Given the description of an element on the screen output the (x, y) to click on. 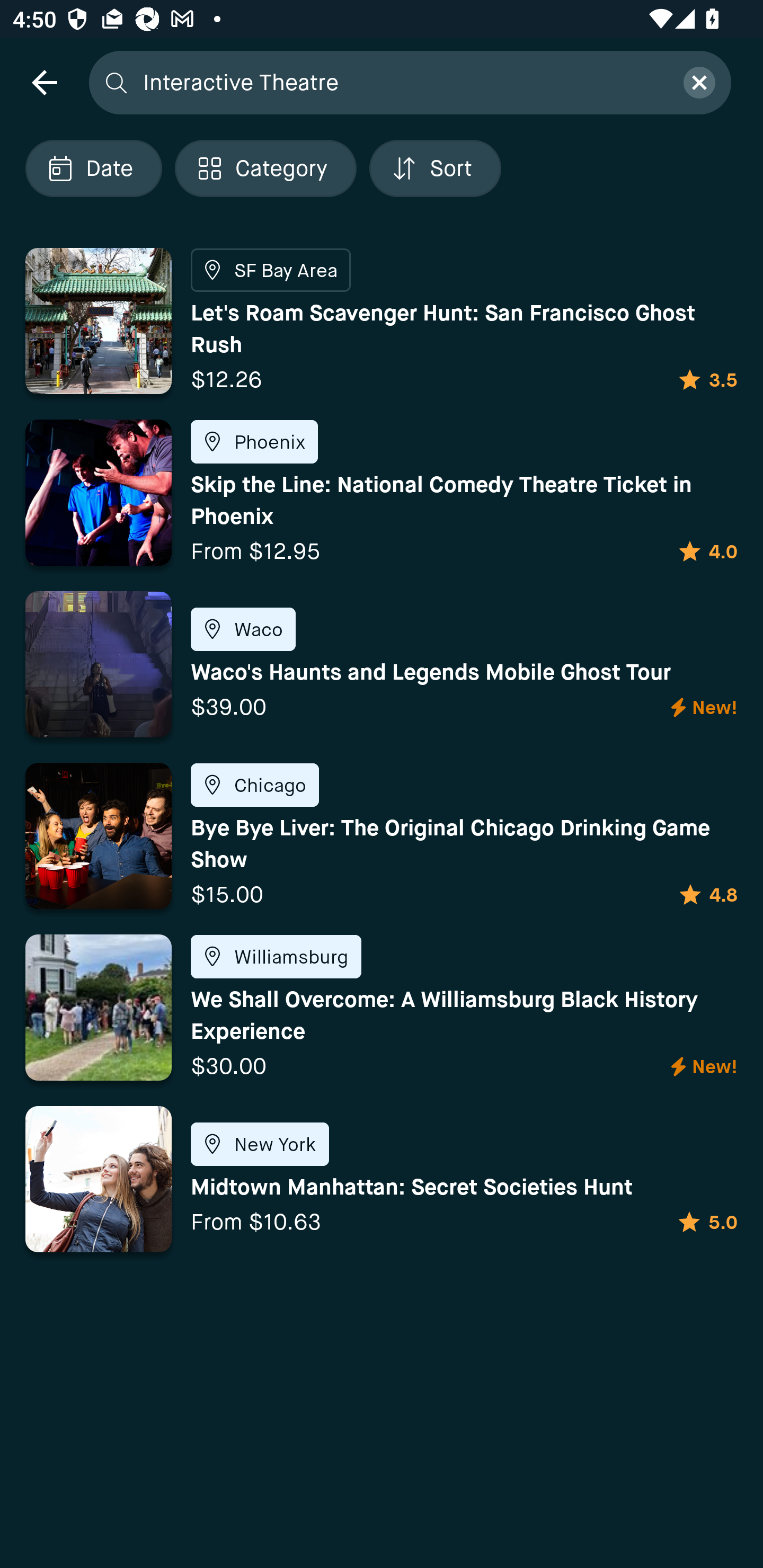
navigation icon (44, 81)
Interactive Theatre (402, 81)
Localized description Date (93, 168)
Localized description Category (265, 168)
Localized description Sort (435, 168)
